Given the description of an element on the screen output the (x, y) to click on. 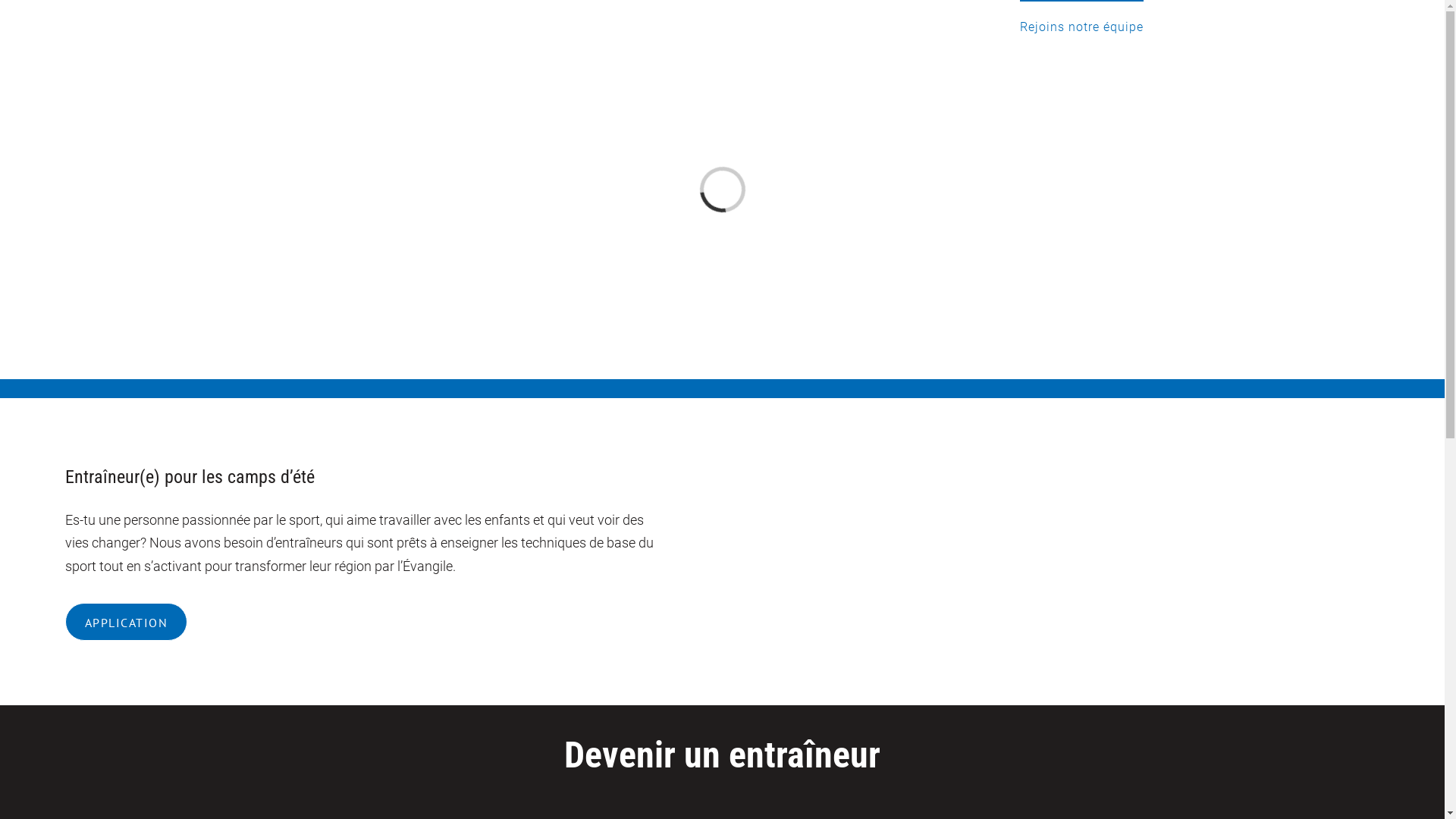
Camps de Sport Element type: text (948, 26)
APPLICATION Element type: text (126, 621)
